Given the description of an element on the screen output the (x, y) to click on. 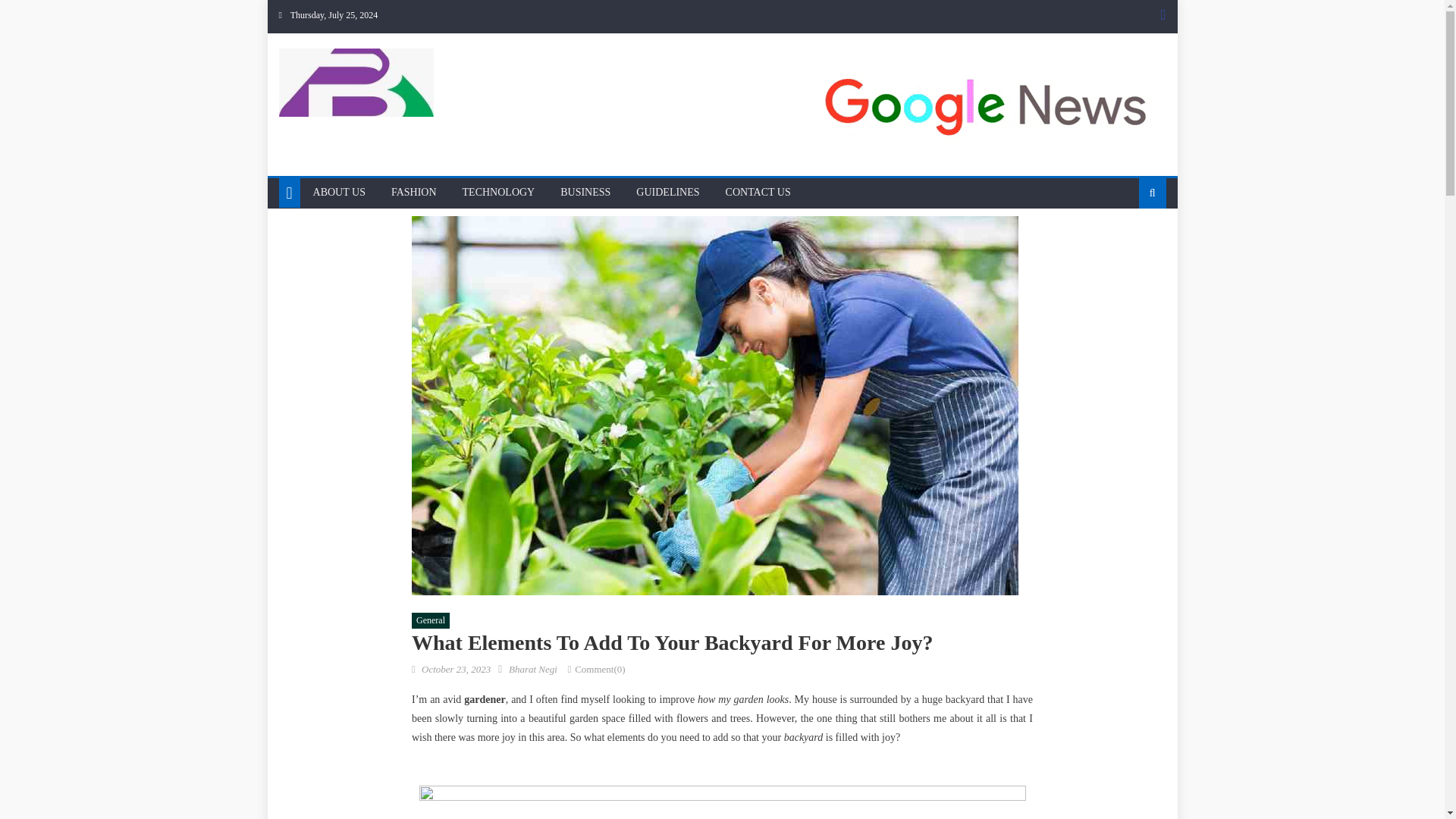
TECHNOLOGY (499, 192)
Search (1128, 241)
General (430, 620)
BUSINESS (584, 192)
CONTACT US (758, 192)
FASHION (414, 192)
Bharat Negi (532, 668)
ABOUT US (339, 192)
October 23, 2023 (456, 668)
GUIDELINES (667, 192)
